Given the description of an element on the screen output the (x, y) to click on. 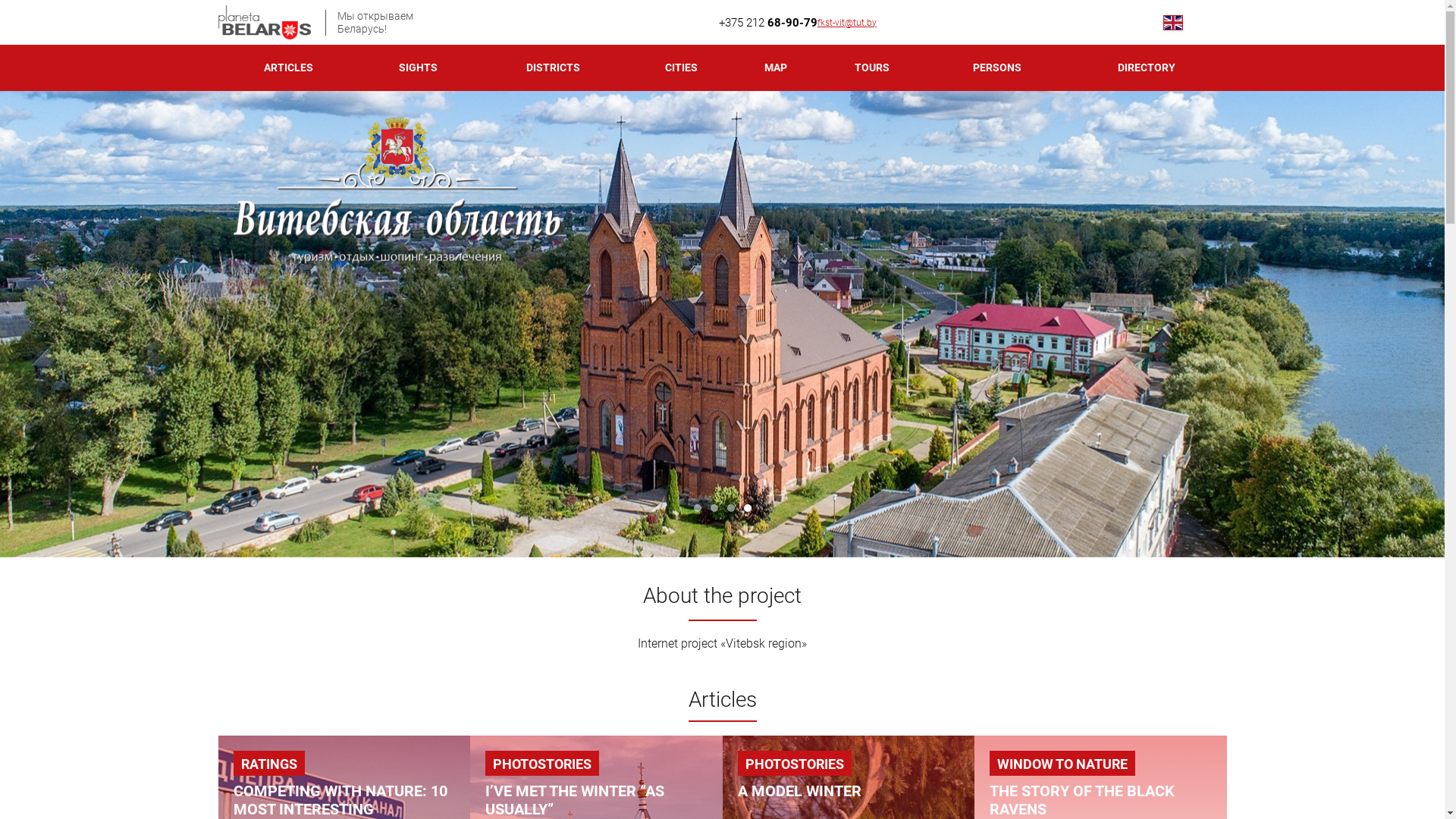
+375 212 68-90-79 Element type: text (767, 22)
ARTICLES Element type: text (289, 67)
fkst-vit@tut.by Element type: text (846, 21)
DISTRICTS Element type: text (553, 67)
CITIES Element type: text (681, 67)
SIGHTS Element type: text (418, 67)
DIRECTORY Element type: text (1146, 67)
PERSONS Element type: text (996, 67)
MAP Element type: text (775, 67)
TOURS Element type: text (872, 67)
